Given the description of an element on the screen output the (x, y) to click on. 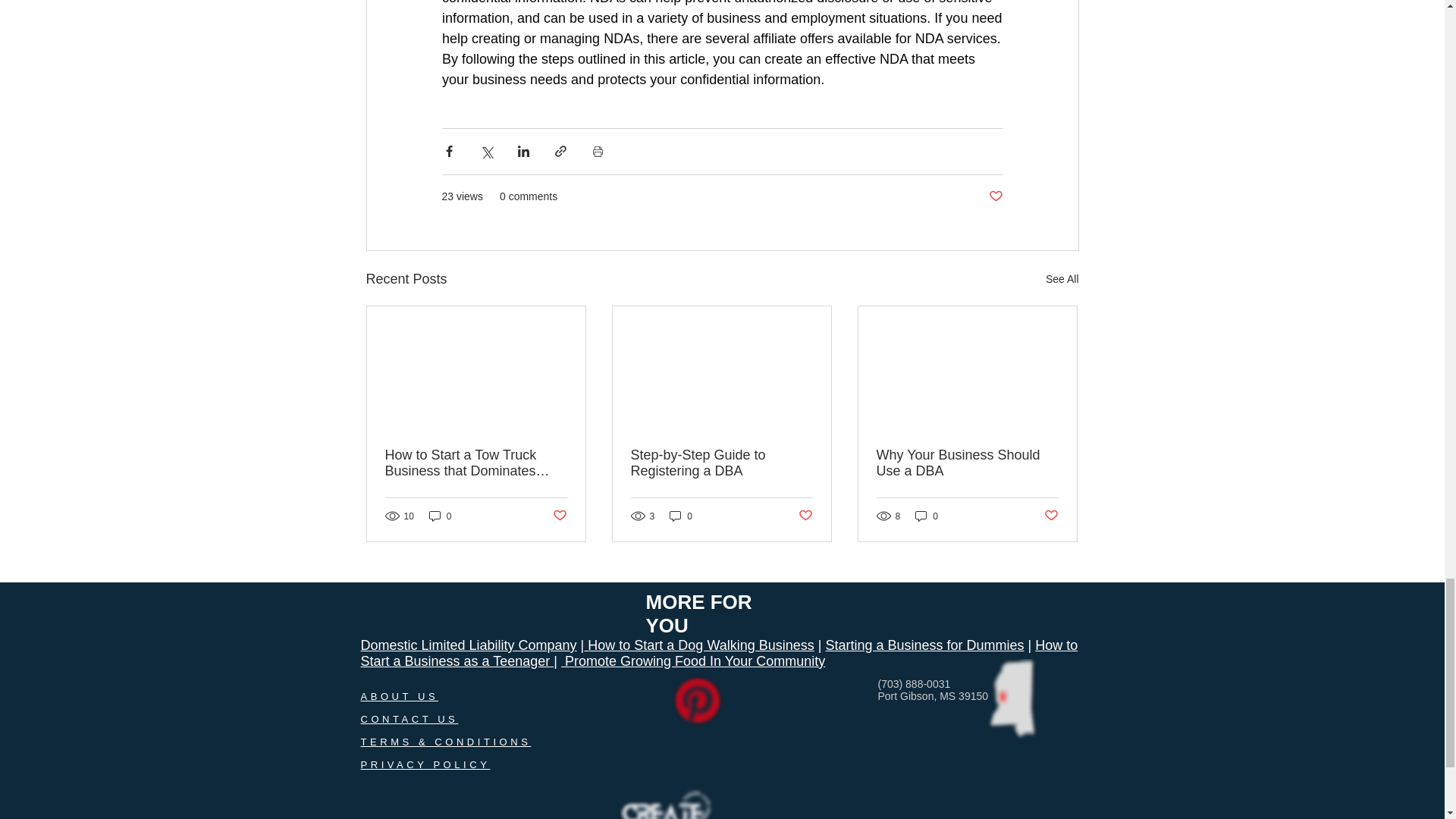
no (695, 701)
How to Start a Tow Truck Business that Dominates Your Market (476, 463)
Post not marked as liked (995, 196)
no (683, 804)
Post not marked as liked (558, 515)
0 (440, 515)
See All (1061, 279)
